Given the description of an element on the screen output the (x, y) to click on. 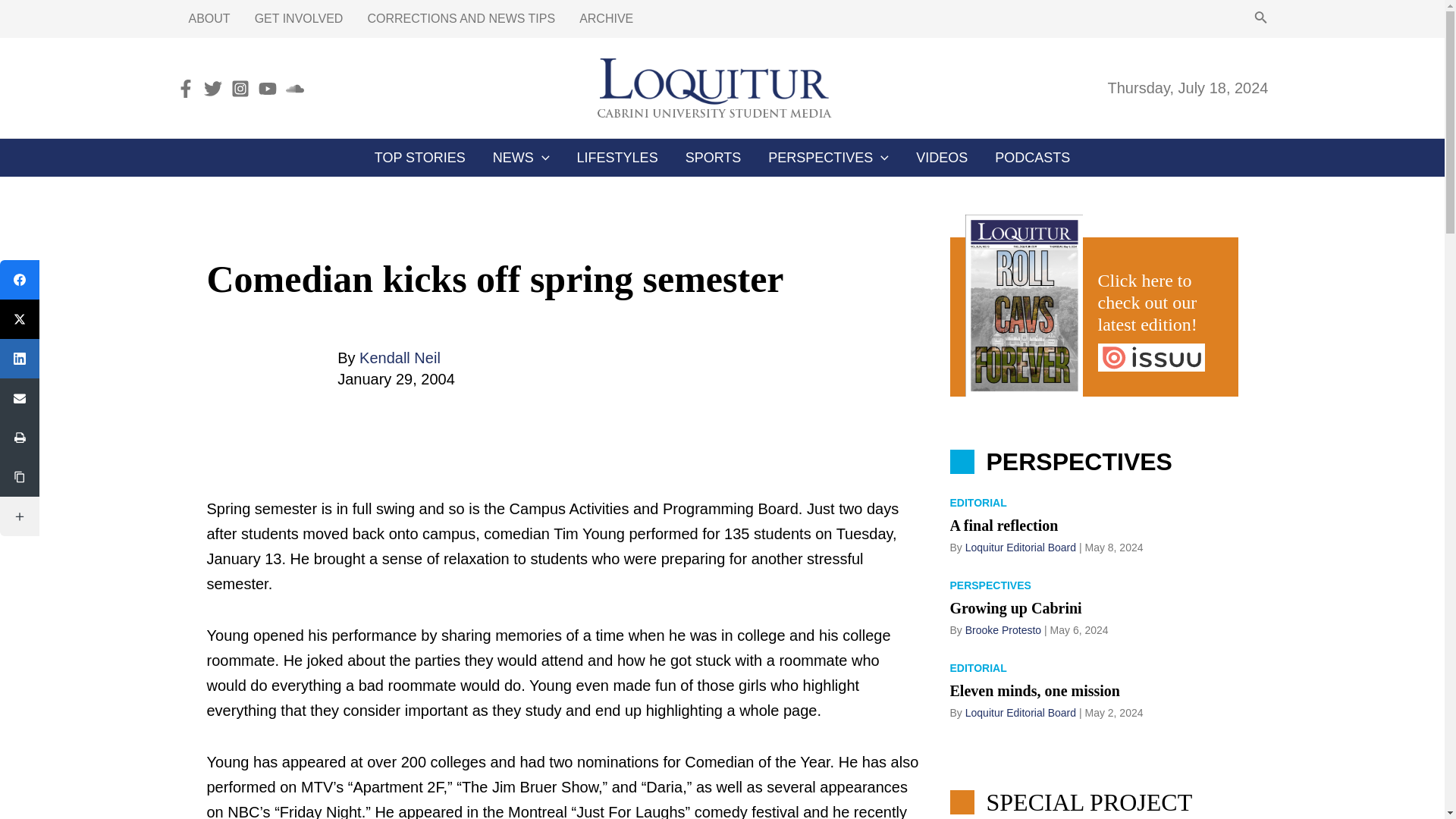
LIFESTYLES (617, 157)
VIDEOS (941, 157)
SPORTS (713, 157)
ABOUT (208, 18)
TOP STORIES (420, 157)
CORRECTIONS AND NEWS TIPS (461, 18)
NEWS (521, 157)
GET INVOLVED (299, 18)
PERSPECTIVES (828, 157)
PODCASTS (1032, 157)
ARCHIVE (606, 18)
